Given the description of an element on the screen output the (x, y) to click on. 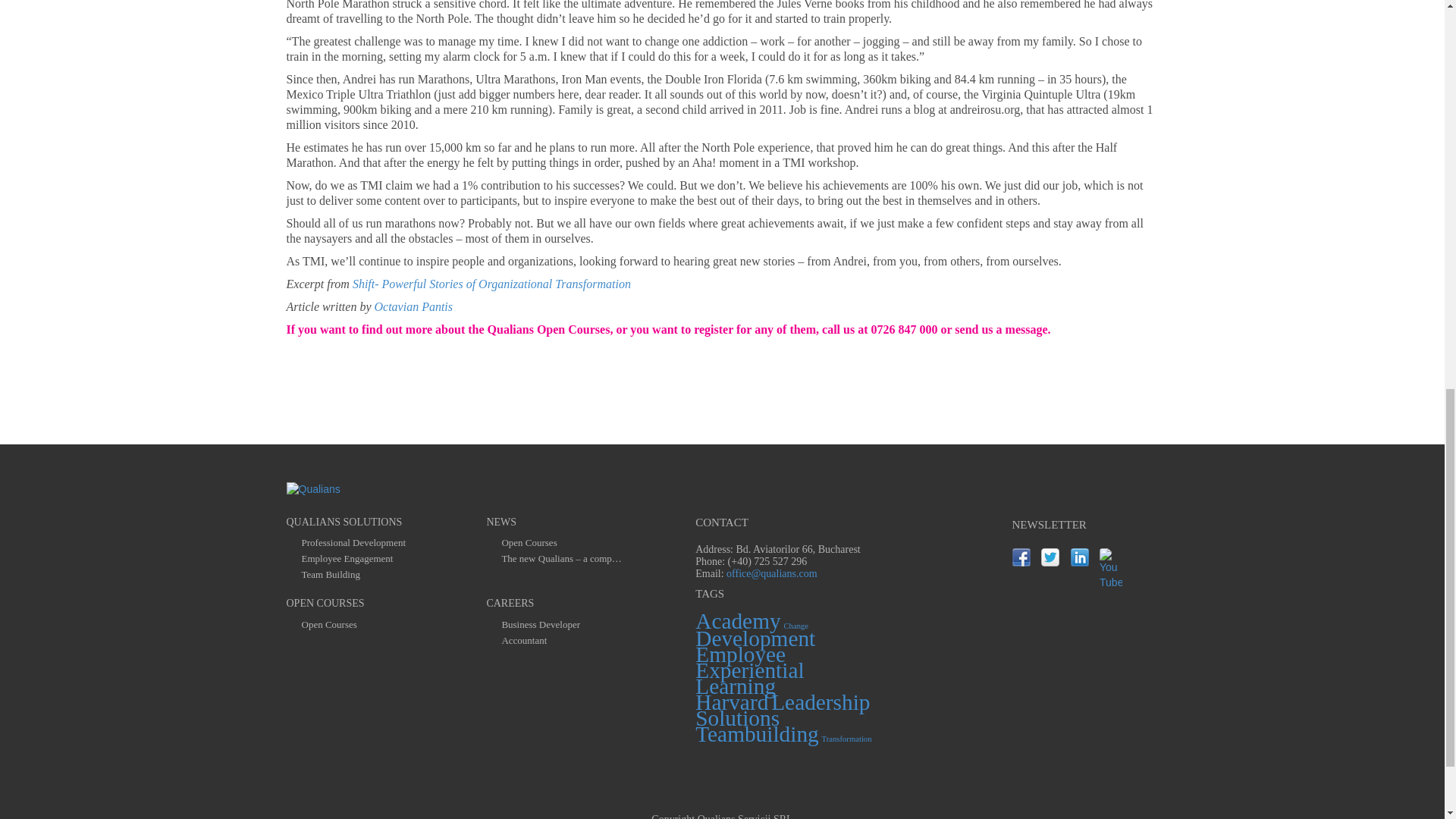
Open Courses (328, 625)
Solutions (736, 717)
Octavian Pantis (413, 306)
Employee Engagement (347, 559)
CAREERS (510, 603)
Development (755, 638)
Leadership (820, 702)
Professional Development (353, 543)
Transformation (847, 738)
Academy (737, 621)
Qualians Open Courses (548, 328)
Business Developer (539, 625)
Accountant (523, 641)
Employee (740, 654)
Qualians (313, 489)
